Given the description of an element on the screen output the (x, y) to click on. 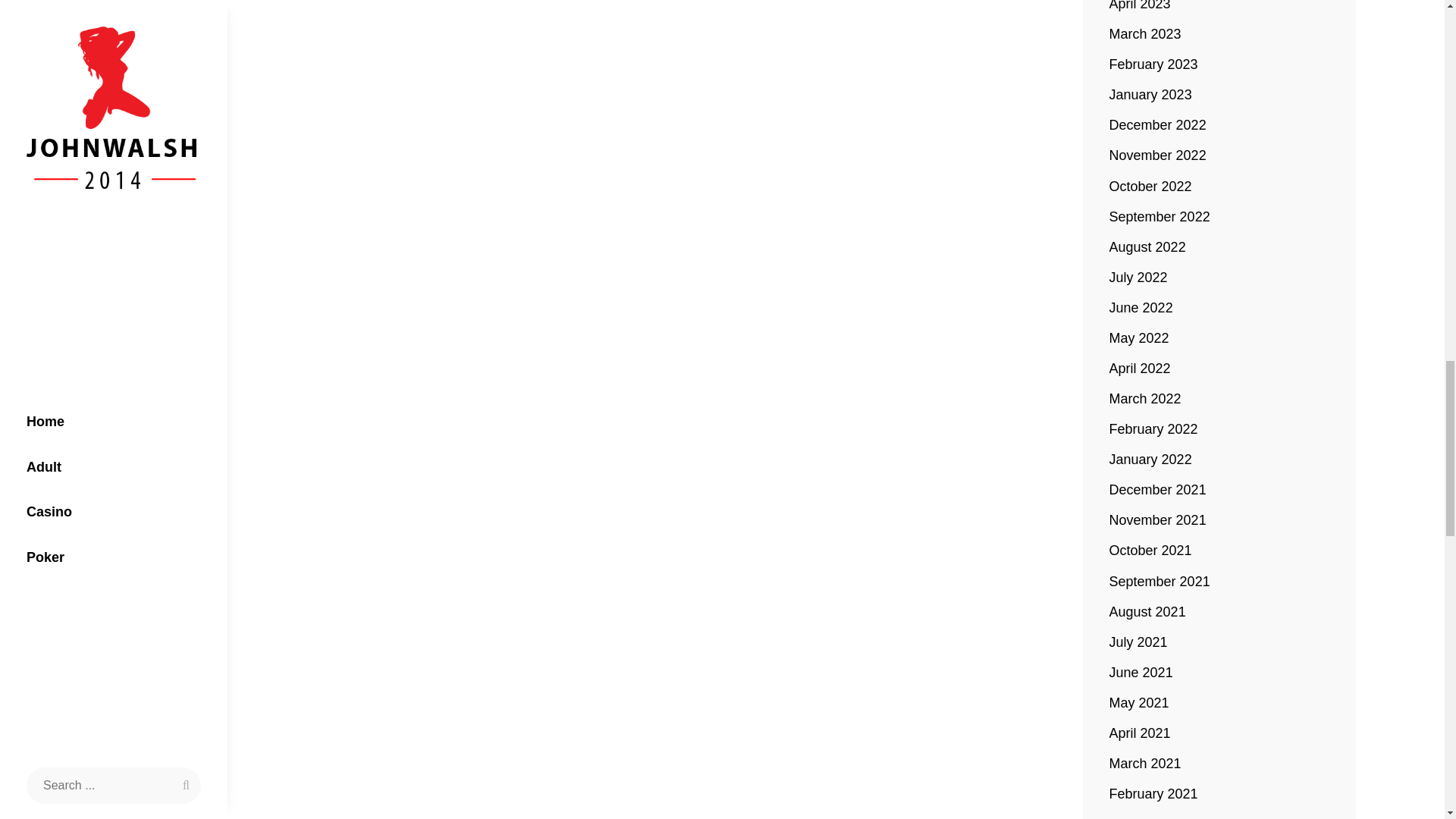
December 2022 (1158, 124)
March 2023 (1144, 34)
January 2023 (1150, 94)
April 2023 (1139, 7)
February 2023 (1153, 64)
